Given the description of an element on the screen output the (x, y) to click on. 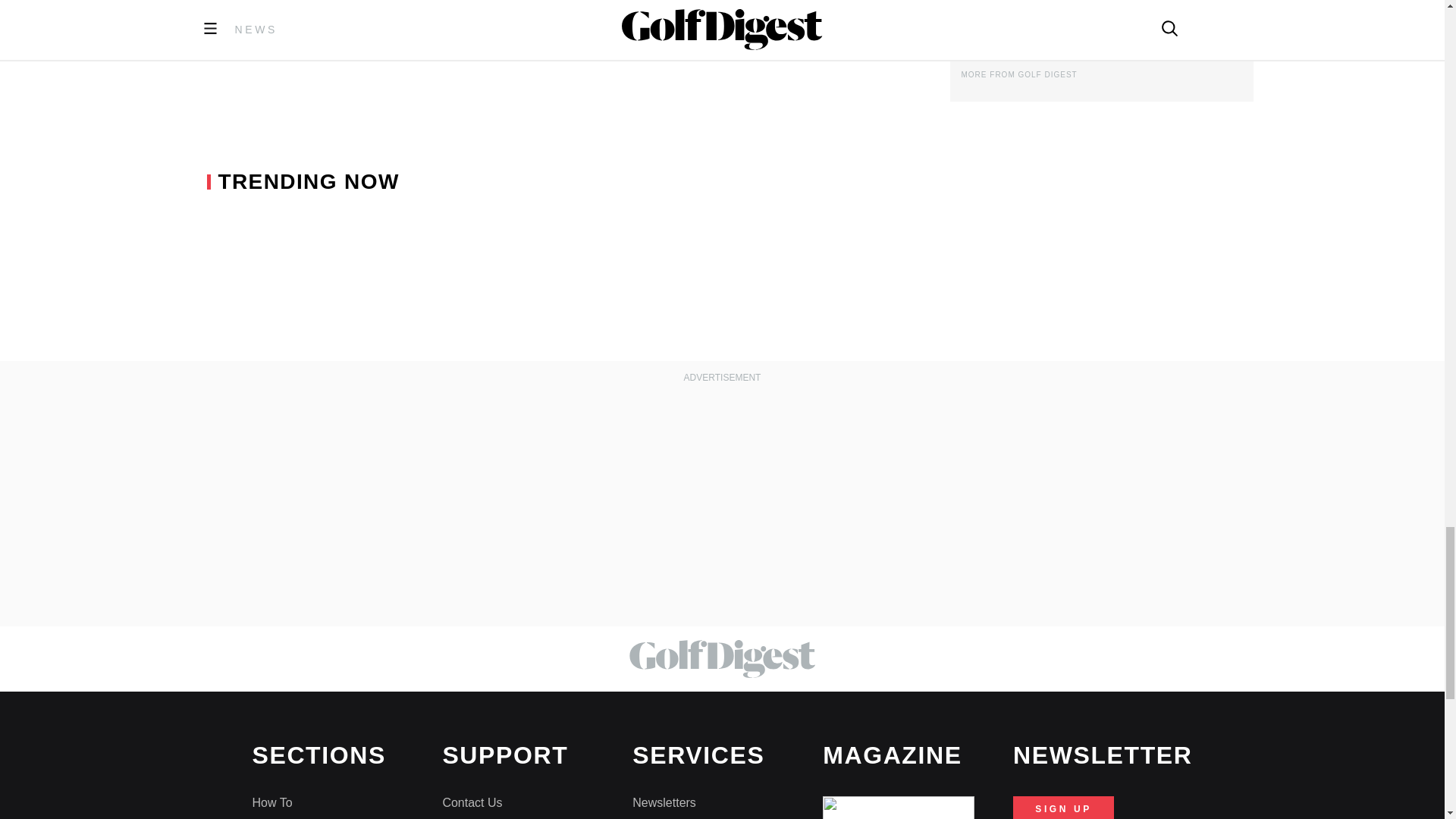
Share on Twitter (472, 12)
Share on Facebook (432, 12)
Share on LinkedIn (506, 12)
